Given the description of an element on the screen output the (x, y) to click on. 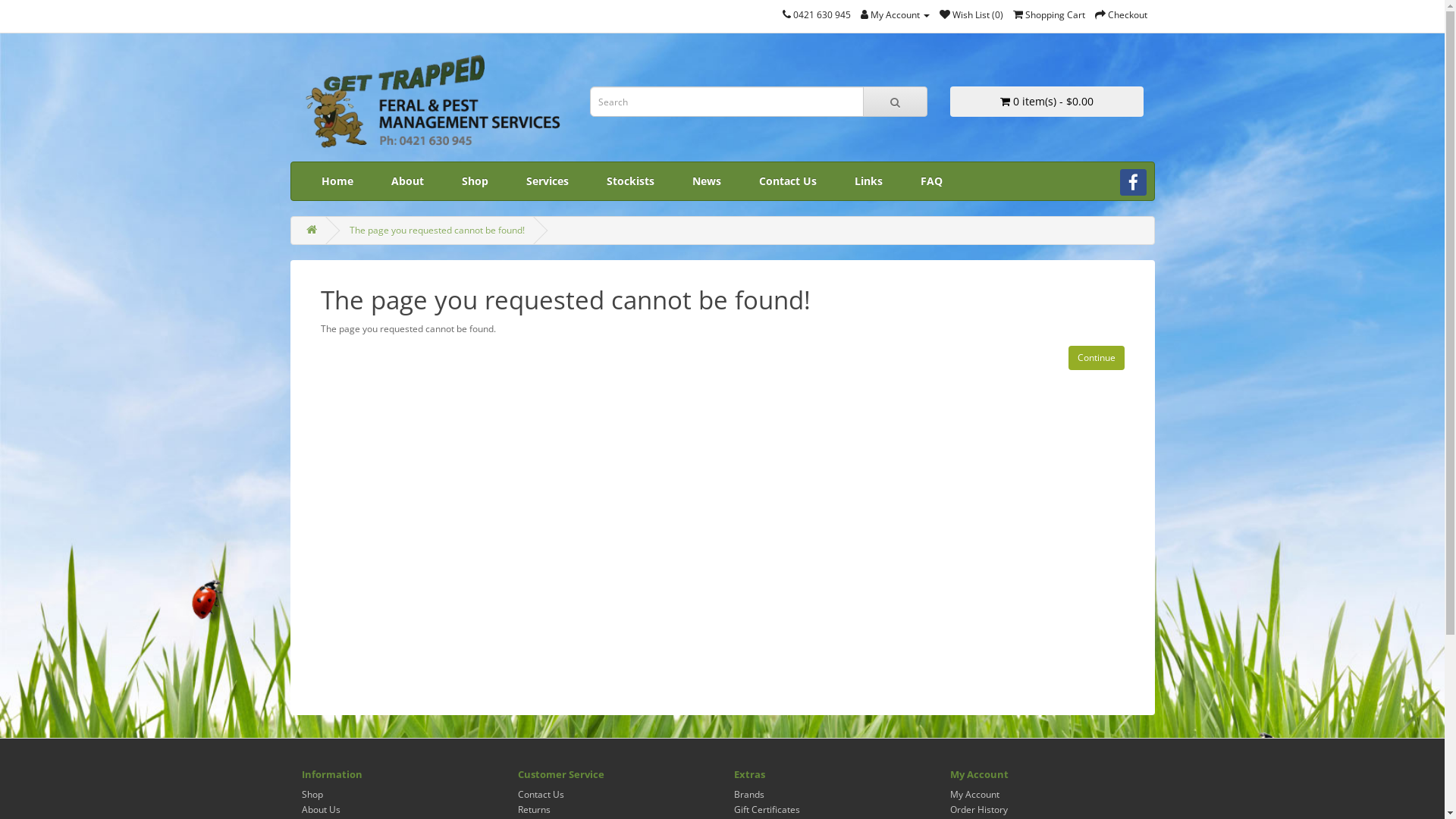
Get Trapped Element type: hover (434, 100)
Contact Us Element type: text (540, 793)
Links Element type: text (868, 181)
Services Element type: text (546, 181)
Stockists Element type: text (629, 181)
About Us Element type: text (320, 809)
Brands Element type: text (749, 793)
About Element type: text (406, 181)
Shop Element type: text (474, 181)
Home Element type: text (336, 181)
0 item(s) - $0.00 Element type: text (1045, 101)
Gift Certificates Element type: text (767, 809)
Shop Element type: text (312, 793)
Returns Element type: text (533, 809)
Order History Element type: text (978, 809)
Continue Element type: text (1095, 357)
My Account Element type: text (893, 14)
Checkout Element type: text (1121, 14)
The page you requested cannot be found! Element type: text (436, 229)
FAQ Element type: text (930, 181)
News Element type: text (706, 181)
Shopping Cart Element type: text (1049, 14)
My Account Element type: text (973, 793)
Contact Us Element type: text (787, 181)
Wish List (0) Element type: text (970, 14)
